Given the description of an element on the screen output the (x, y) to click on. 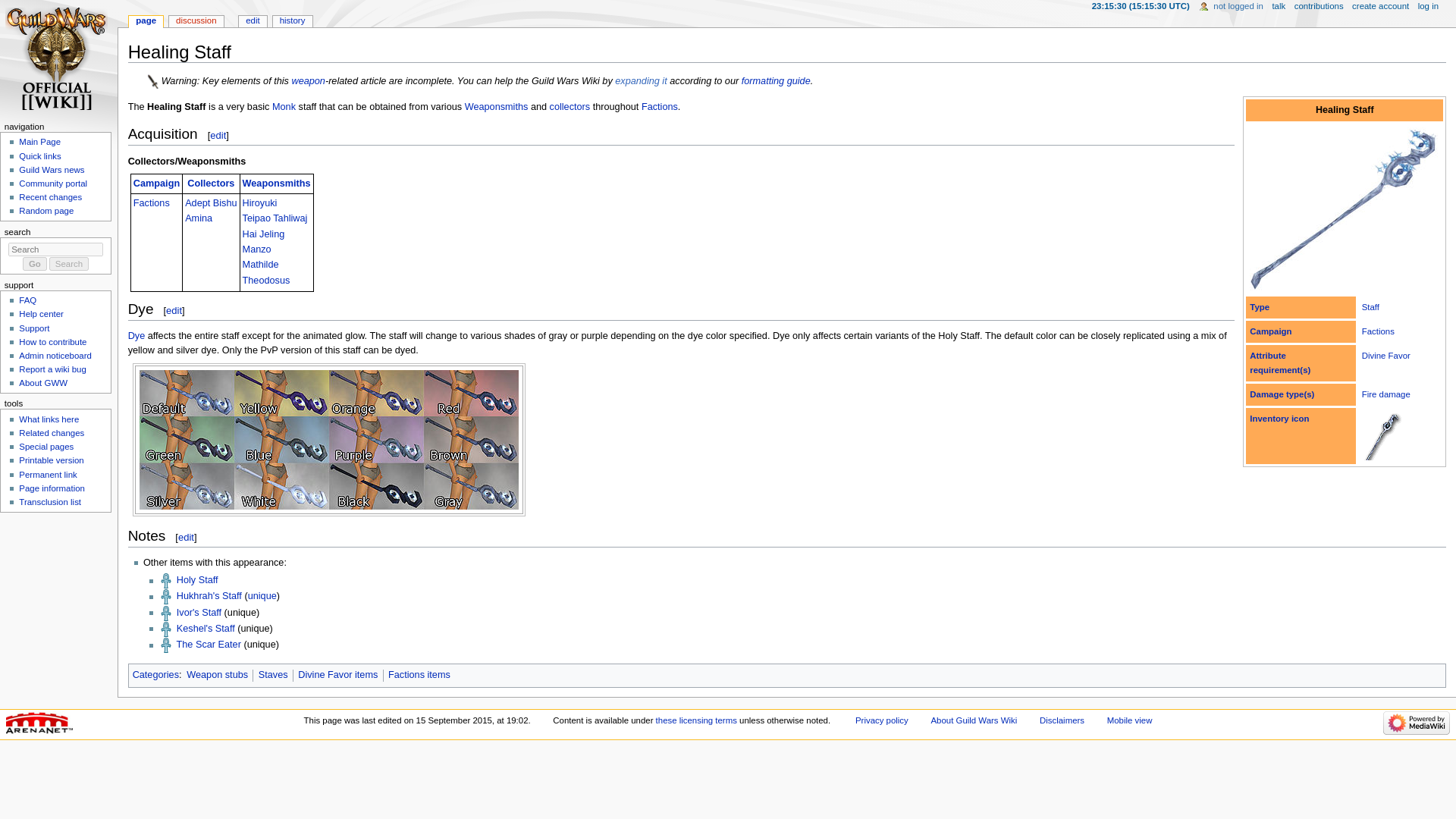
edit (173, 310)
Weapon-stub (154, 81)
Divine Favor (1385, 355)
Search (68, 264)
Campaign (1270, 330)
Teipao Tahliwaj (275, 217)
Search (68, 264)
Attribute (1267, 355)
formatting guide (775, 81)
collectors (570, 106)
Attribute (1267, 355)
Requirement (1279, 369)
Monk (283, 106)
Fire damage (1385, 393)
